Given the description of an element on the screen output the (x, y) to click on. 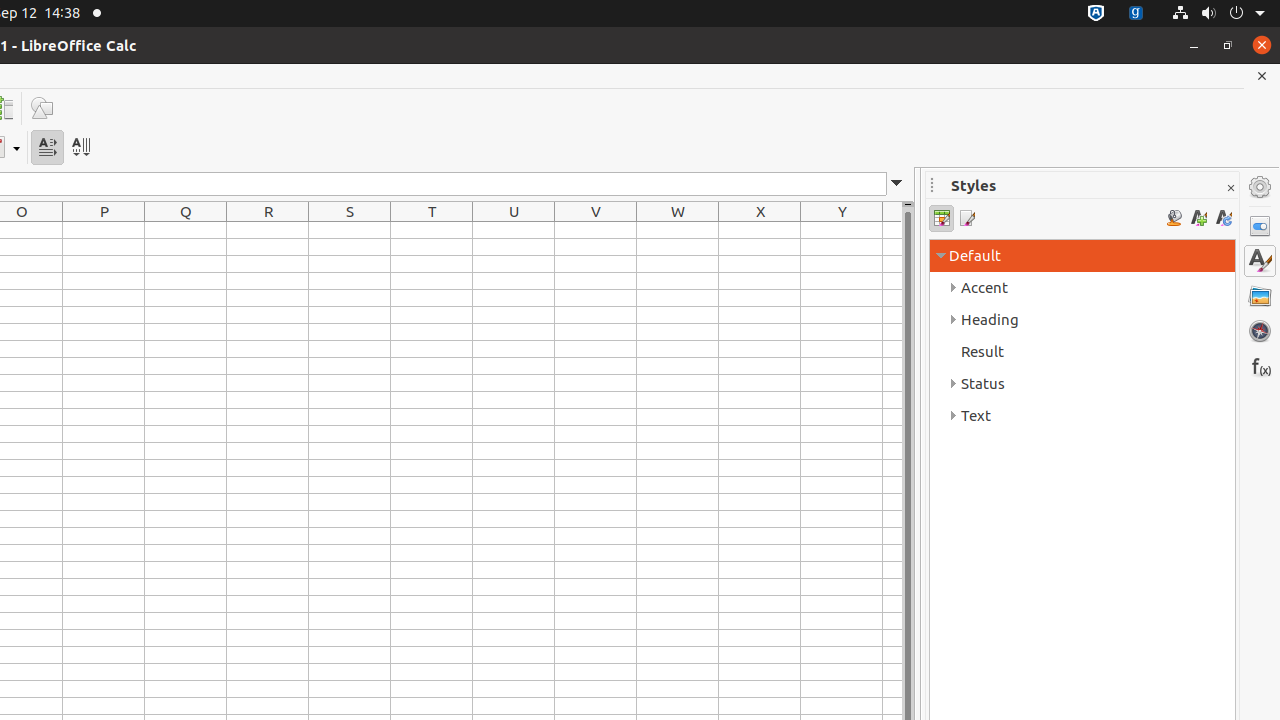
T1 Element type: table-cell (432, 230)
Functions Element type: radio-button (1260, 366)
Update Style Element type: push-button (1223, 218)
Close Sidebar Deck Element type: push-button (1230, 188)
X1 Element type: table-cell (760, 230)
